Given the description of an element on the screen output the (x, y) to click on. 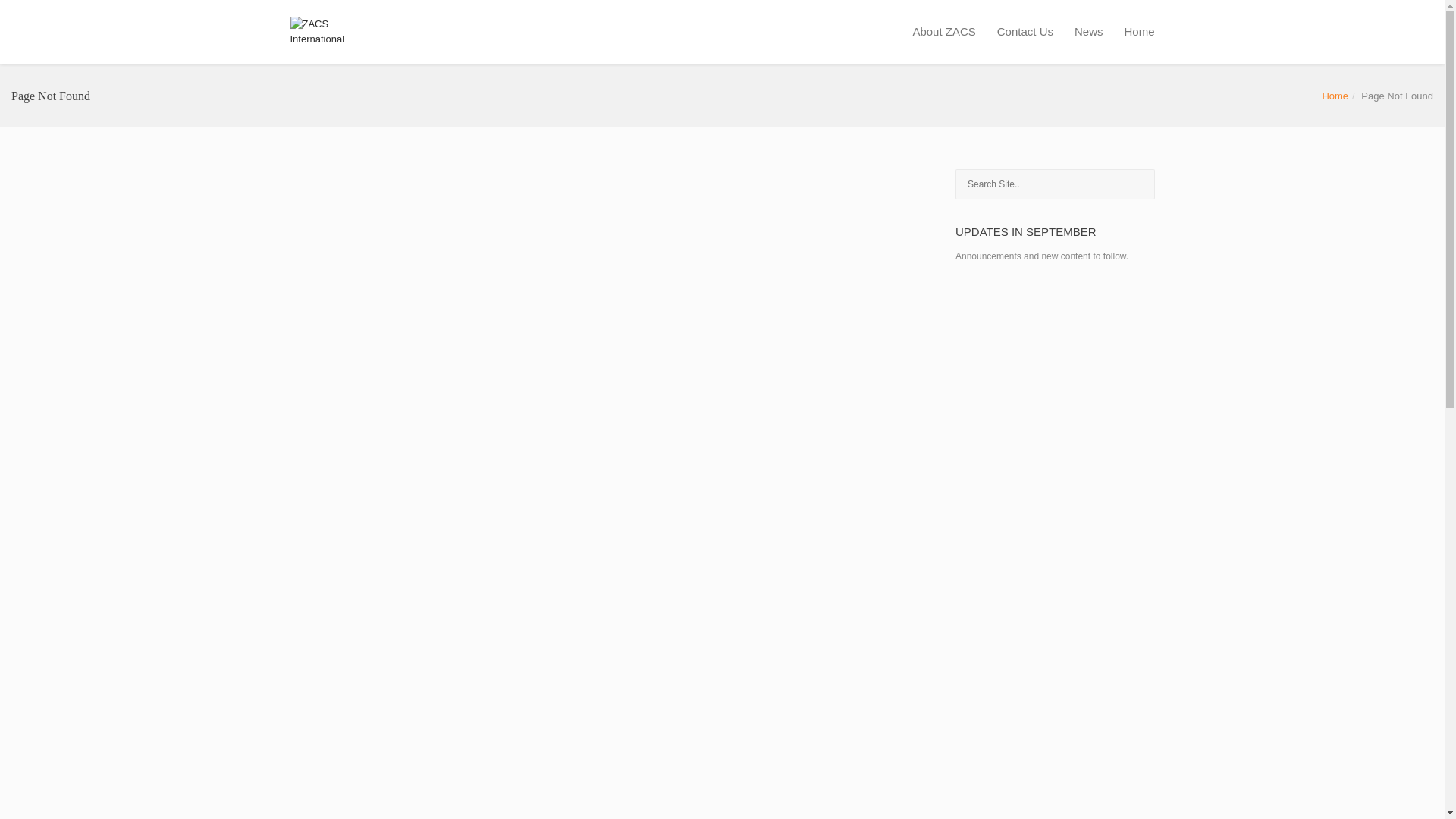
Contact Us (1025, 31)
Home (1335, 95)
About ZACS (943, 31)
